Given the description of an element on the screen output the (x, y) to click on. 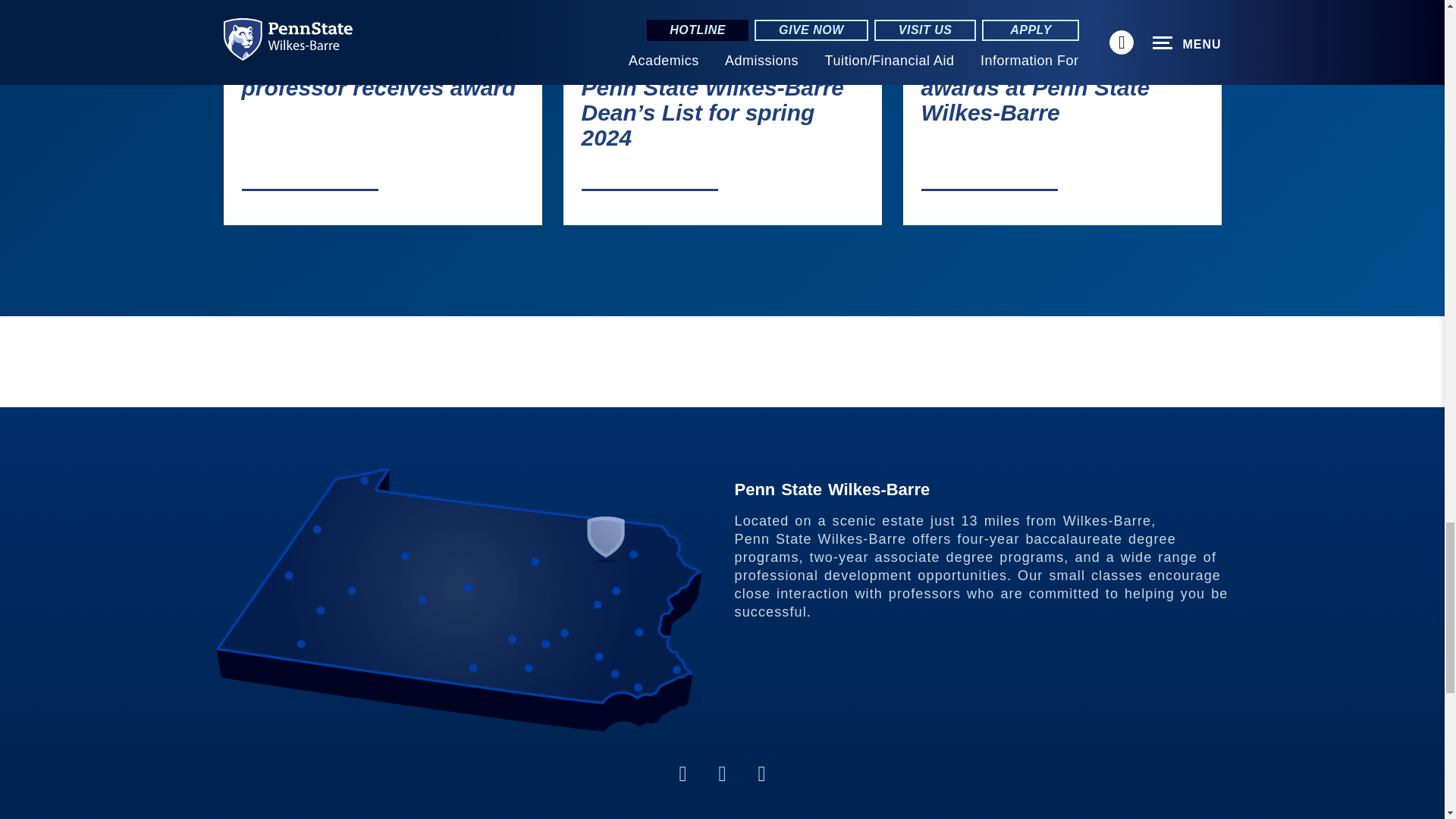
instagram (682, 773)
